Given the description of an element on the screen output the (x, y) to click on. 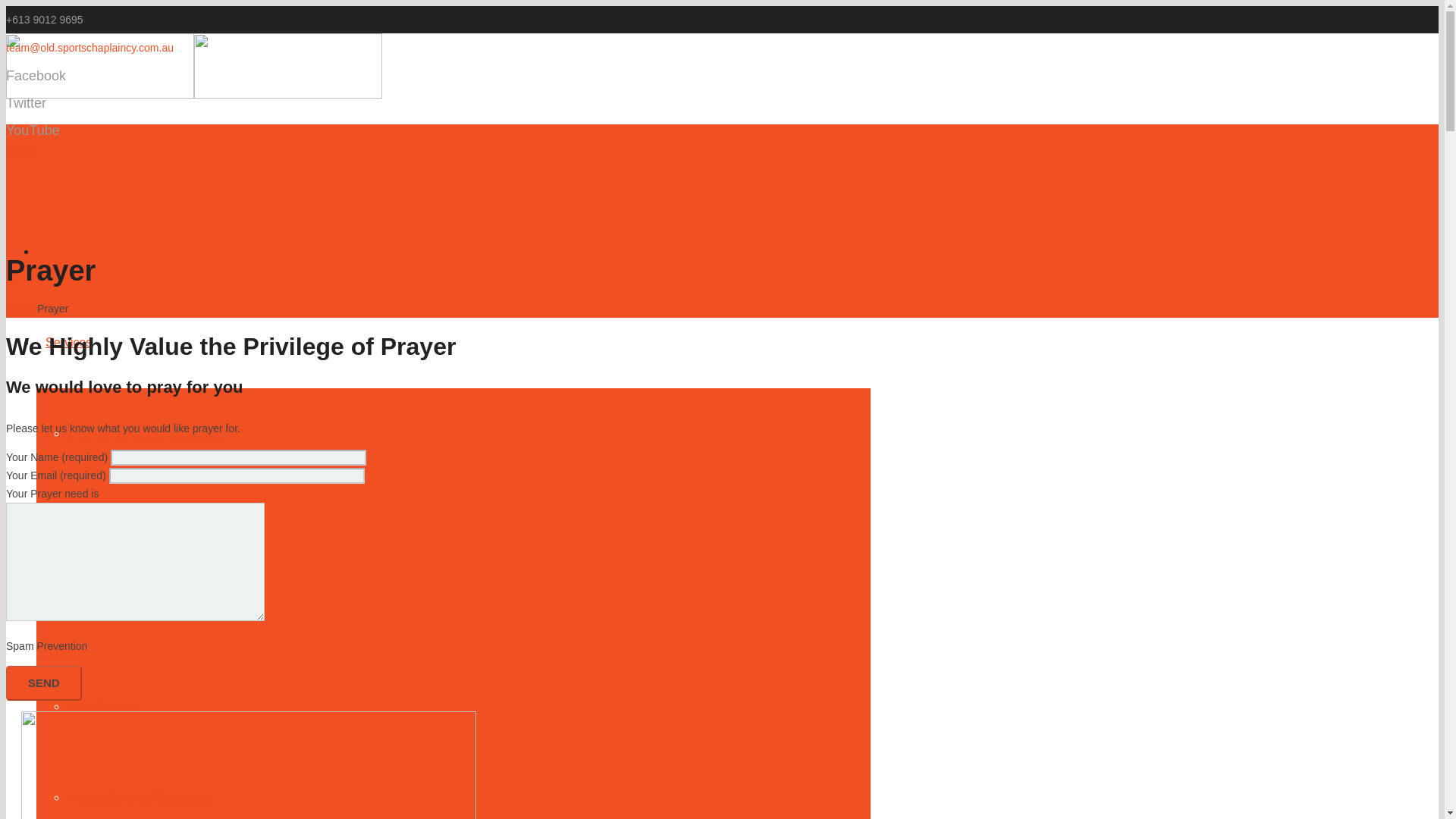
Overview of Sports Chaplaincy (144, 432)
Advantages for Clubs (120, 523)
Case Studies (99, 706)
Services (68, 341)
Send (43, 683)
Menu (437, 169)
Frequently Asked Questions (137, 797)
Sports We Serve (109, 615)
